Given the description of an element on the screen output the (x, y) to click on. 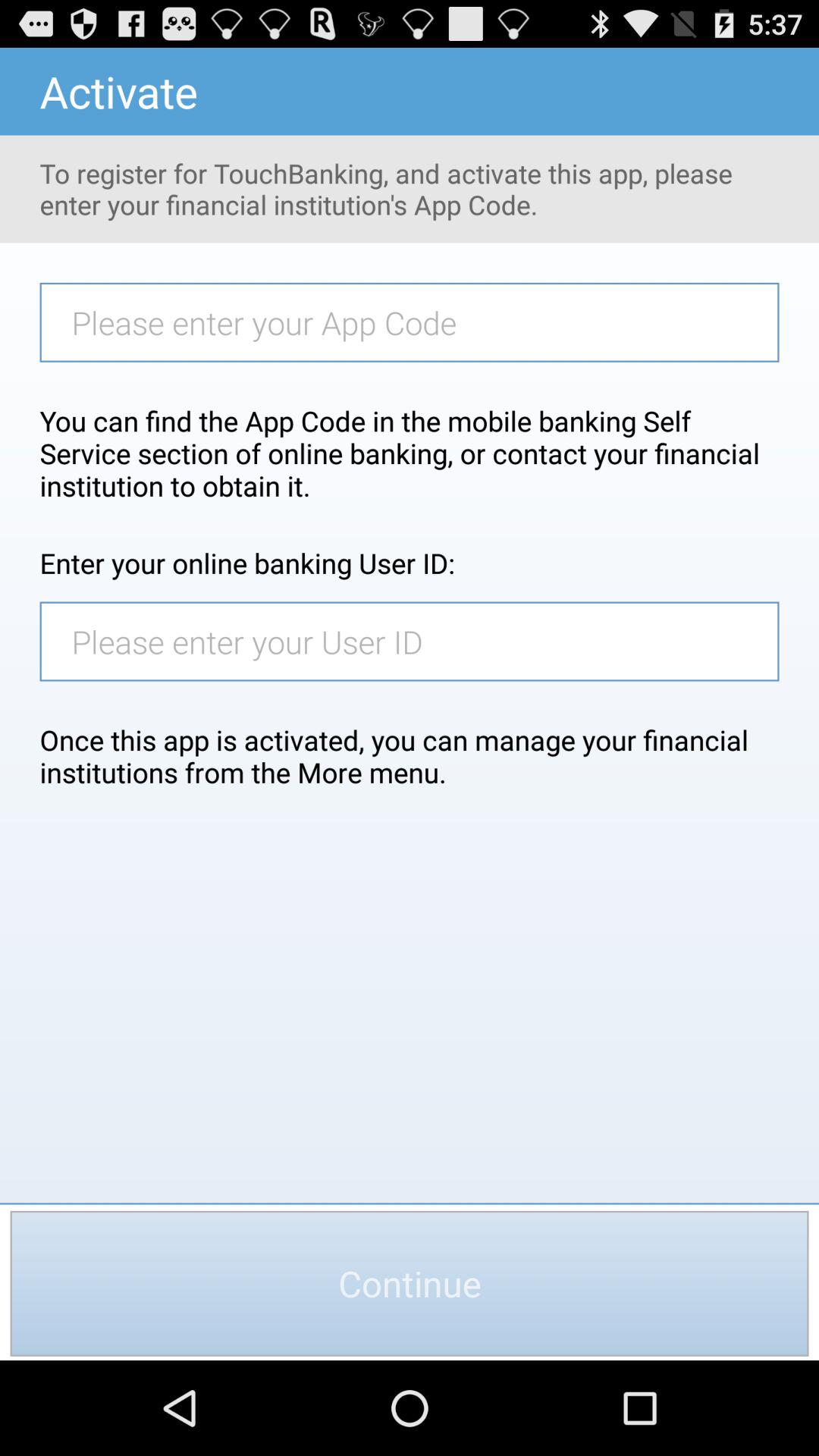
enter app code (417, 322)
